Given the description of an element on the screen output the (x, y) to click on. 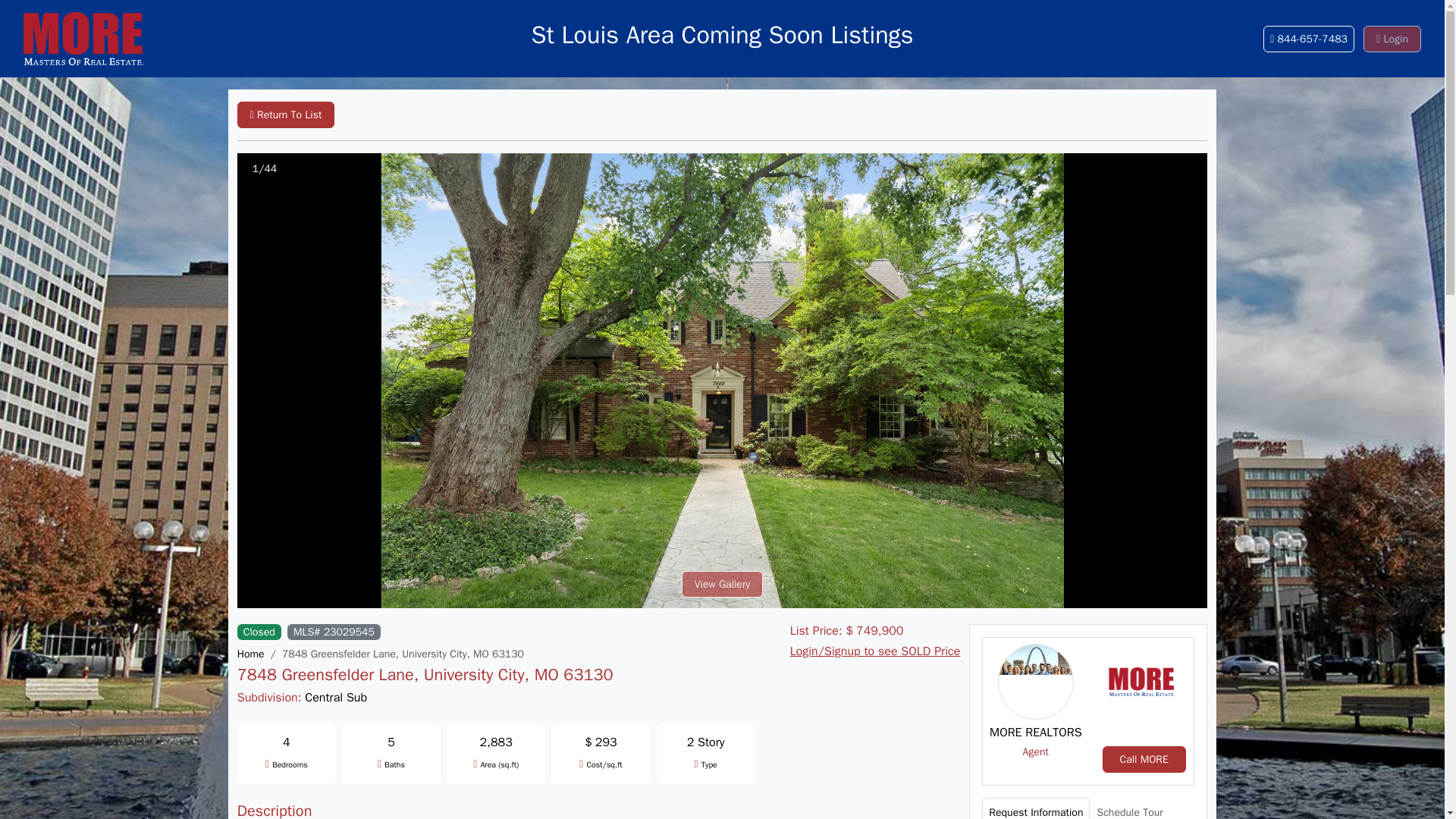
Call MORE (1144, 759)
Home (250, 653)
Return To List (285, 114)
St Louis Area Coming Soon Listings (722, 35)
Schedule Tour (1129, 808)
844-657-7483 (1308, 38)
View Gallery (721, 583)
Login (1391, 38)
Request Information (1035, 808)
